Given the description of an element on the screen output the (x, y) to click on. 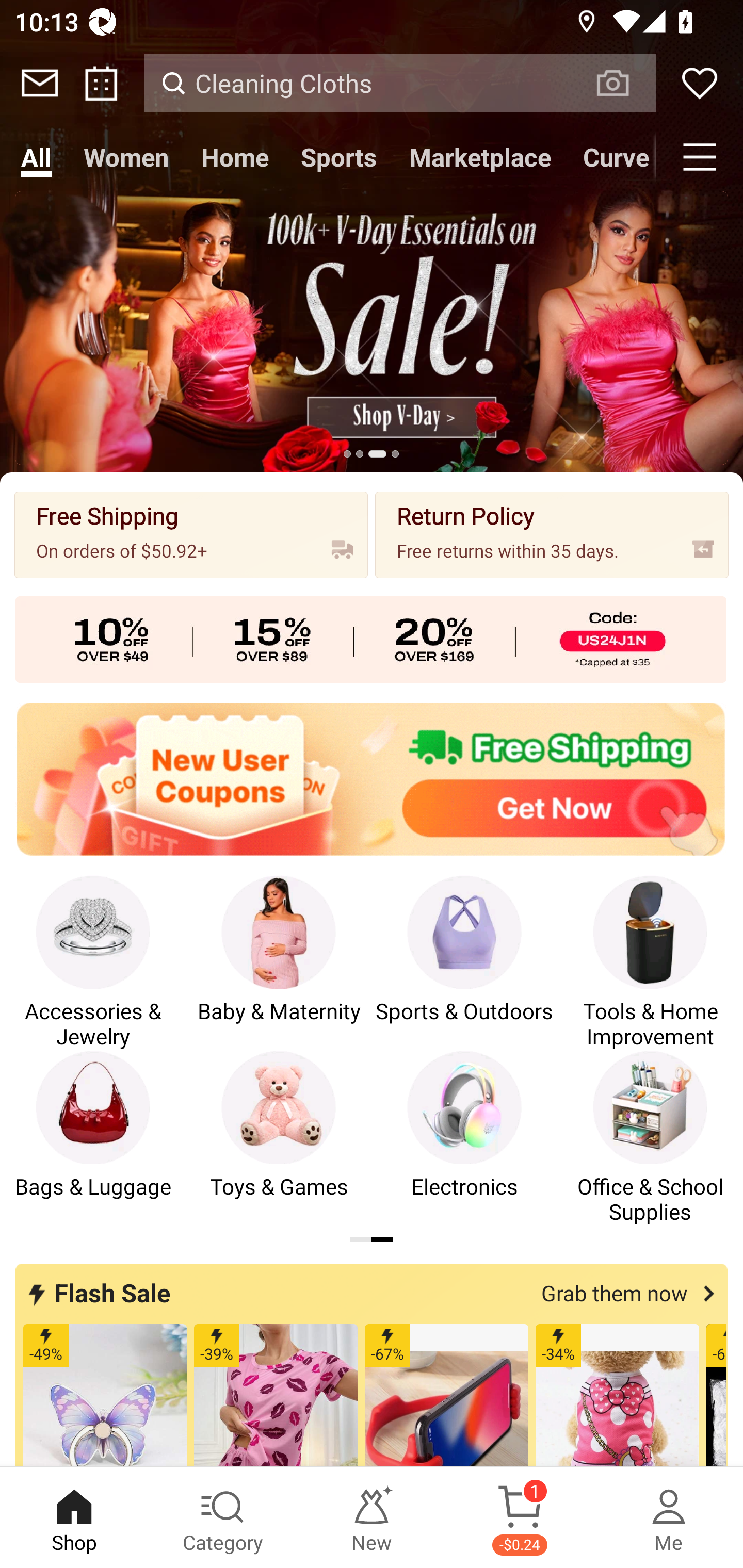
Wishlist (699, 82)
VISUAL SEARCH (623, 82)
All (36, 156)
Women (126, 156)
Home (234, 156)
Sports (338, 156)
Marketplace (479, 156)
Curve (611, 156)
Free Shipping On orders of $50.92+ (190, 534)
Return Policy Free returns within 35 days. (551, 534)
Accessories & Jewelry (92, 962)
Baby & Maternity (278, 962)
Sports & Outdoors (464, 962)
Tools & Home Improvement (650, 962)
Bags & Luggage (92, 1138)
Toys & Games (278, 1138)
Electronics (464, 1138)
Office & School Supplies (650, 1138)
Category (222, 1517)
New (371, 1517)
Cart 1 -$0.24 (519, 1517)
Me (668, 1517)
